Given the description of an element on the screen output the (x, y) to click on. 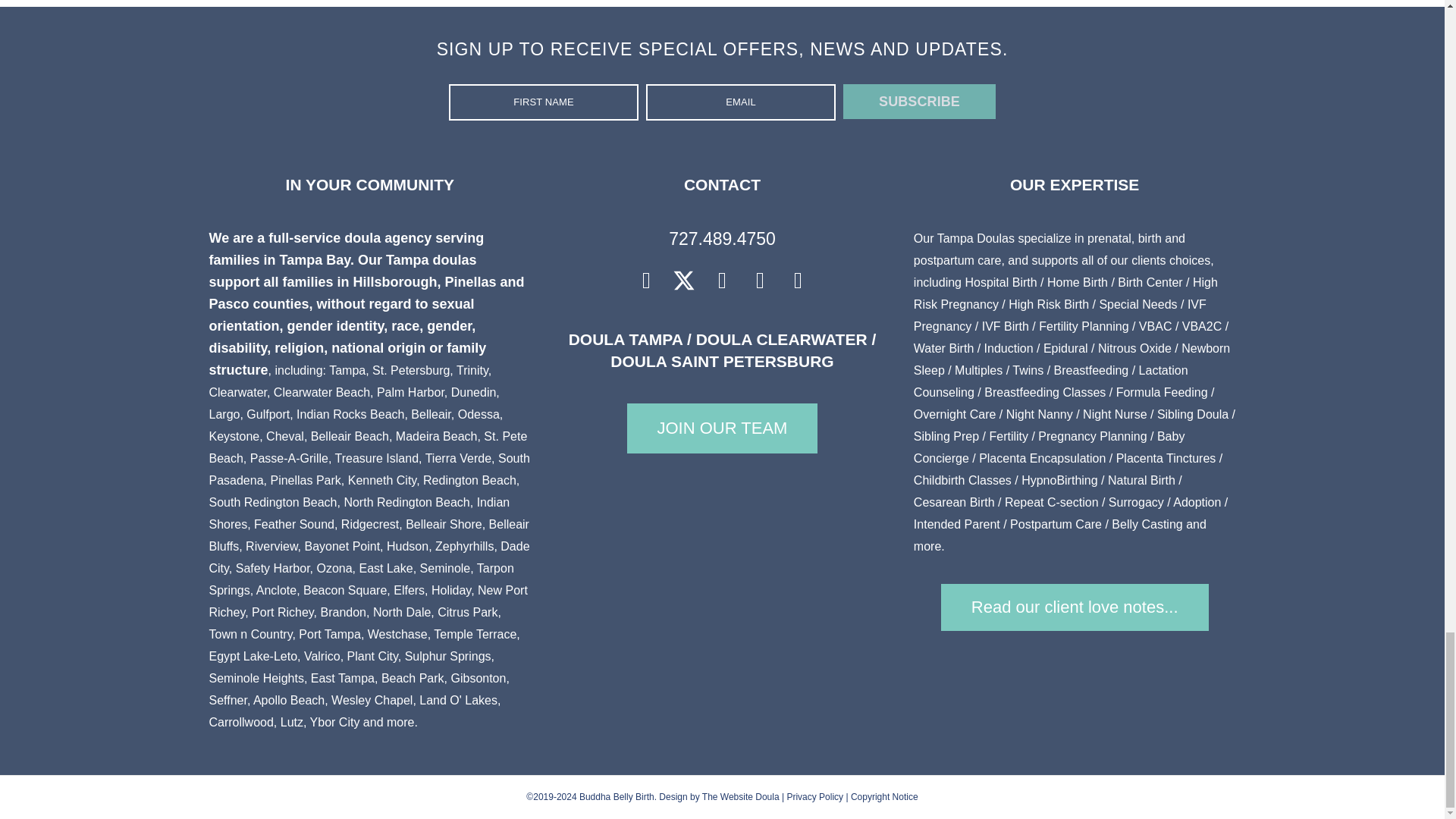
Facebook (645, 280)
Pinterest (759, 280)
Instagram (721, 280)
